Given the description of an element on the screen output the (x, y) to click on. 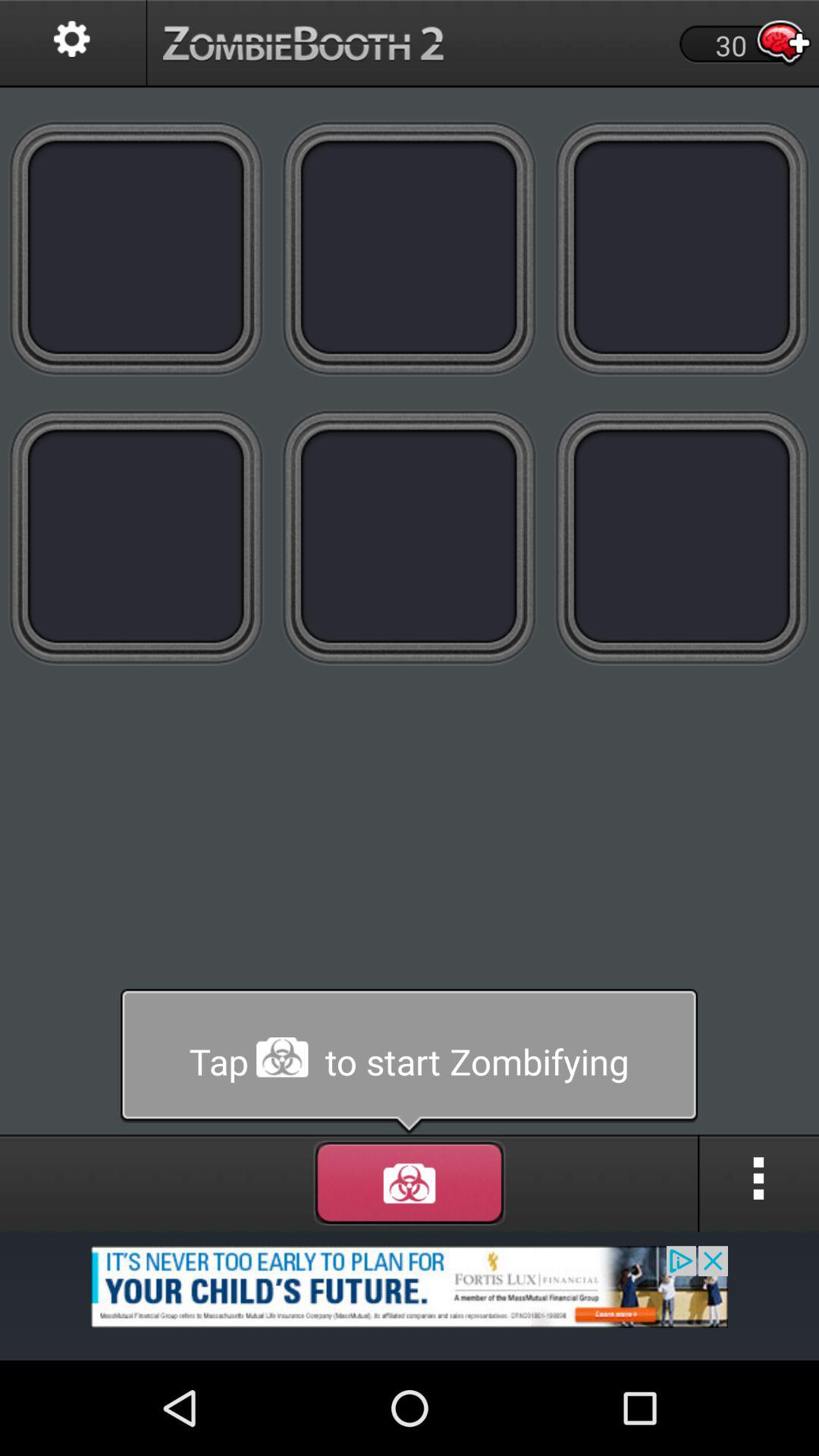
click on icon which is below (409, 1182)
select on the second image (409, 248)
click on first image in second row from right side (682, 537)
the second image in the first row from the top of the page (409, 248)
